Given the description of an element on the screen output the (x, y) to click on. 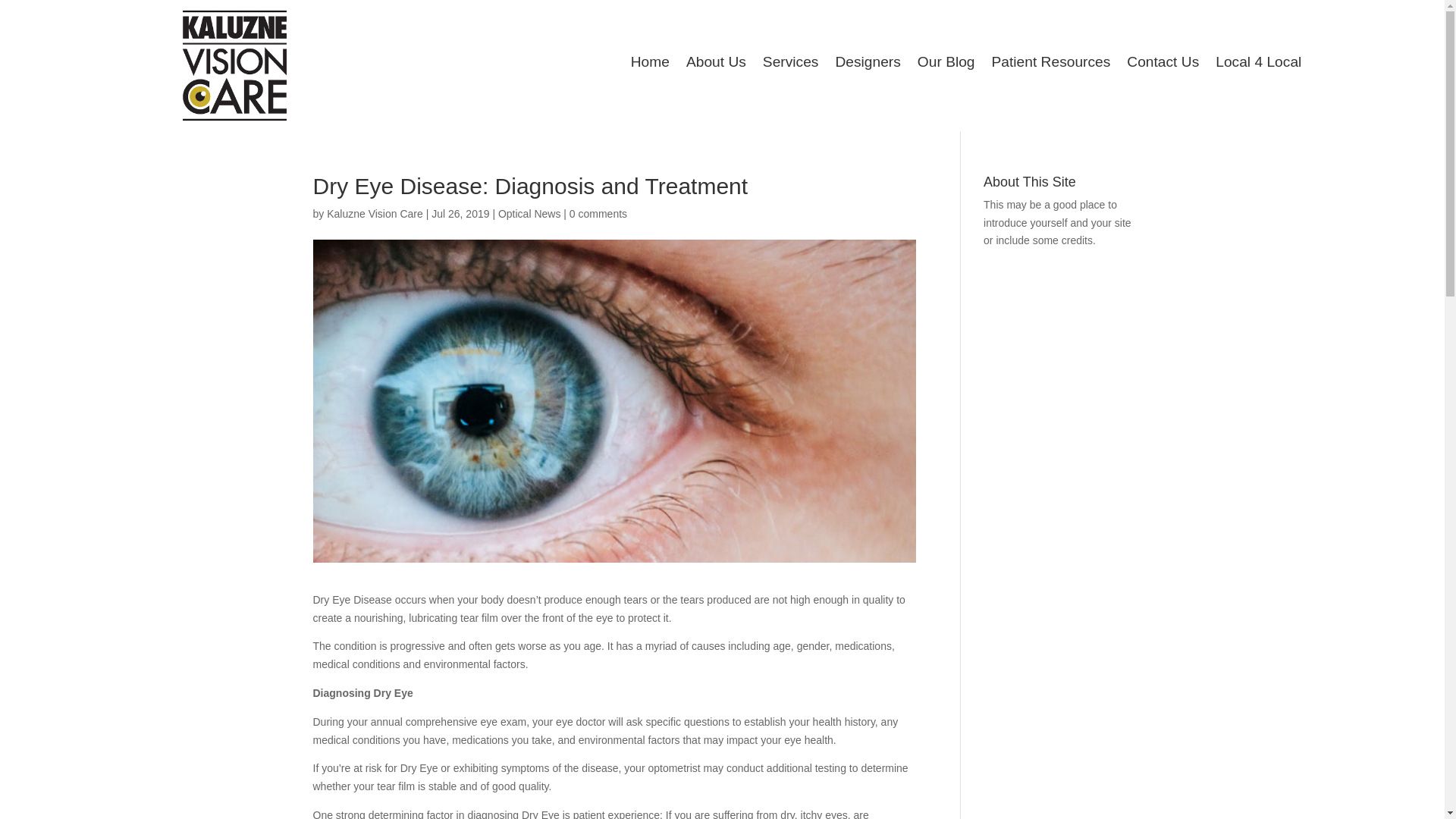
About Us (715, 64)
Contact Us (1162, 64)
Designers (866, 64)
Our Blog (946, 64)
kaluzne-vision-care-logo-site-icon (235, 65)
Posts by Kaluzne Vision Care (374, 214)
Home (649, 64)
Patient Resources (1050, 64)
Local 4 Local (1258, 64)
0 comments (598, 214)
Services (790, 64)
Kaluzne Vision Care (374, 214)
Optical News (528, 214)
